Given the description of an element on the screen output the (x, y) to click on. 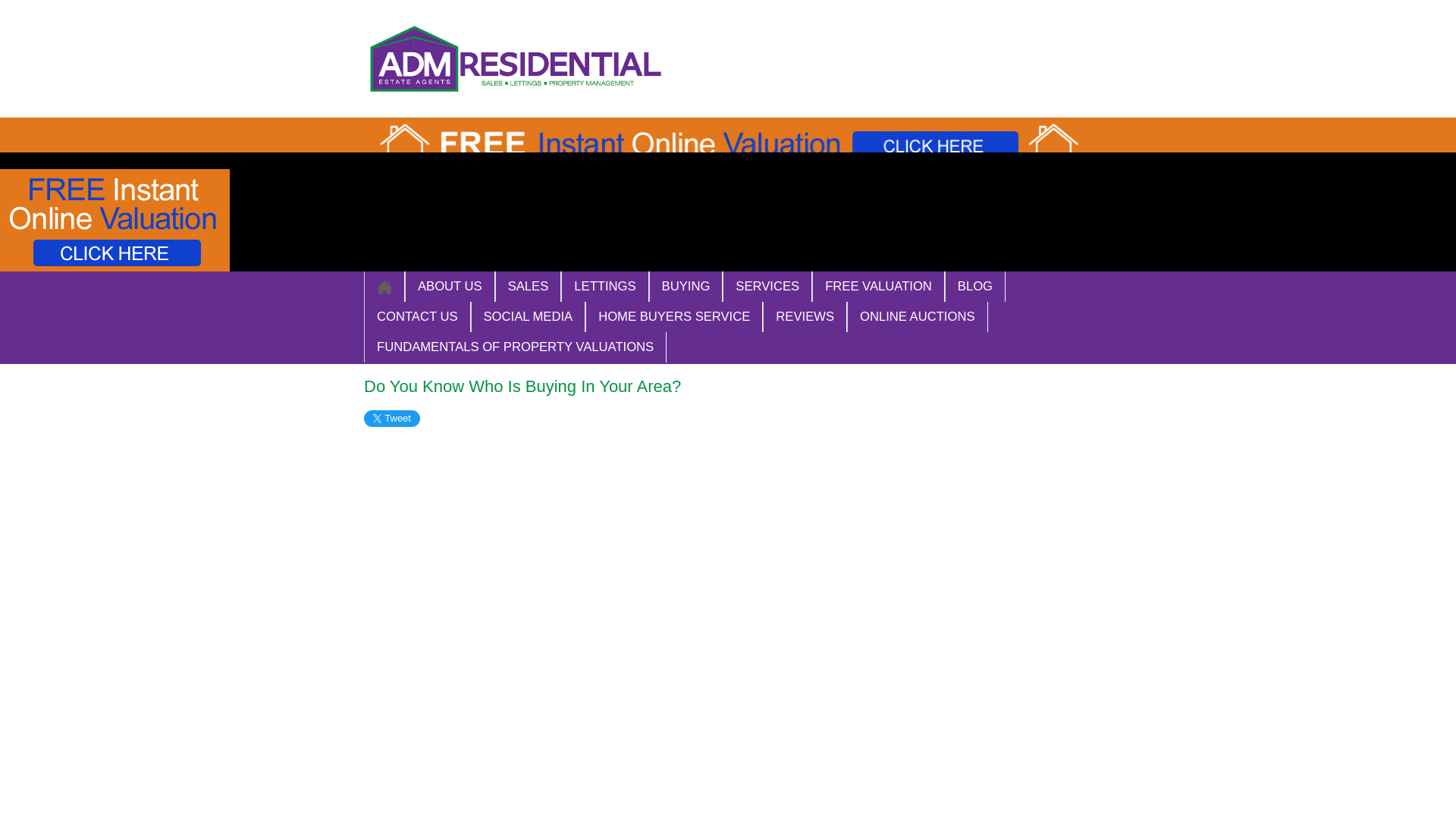
LETTINGS (603, 286)
ABOUT US (449, 286)
SALES (528, 286)
